Given the description of an element on the screen output the (x, y) to click on. 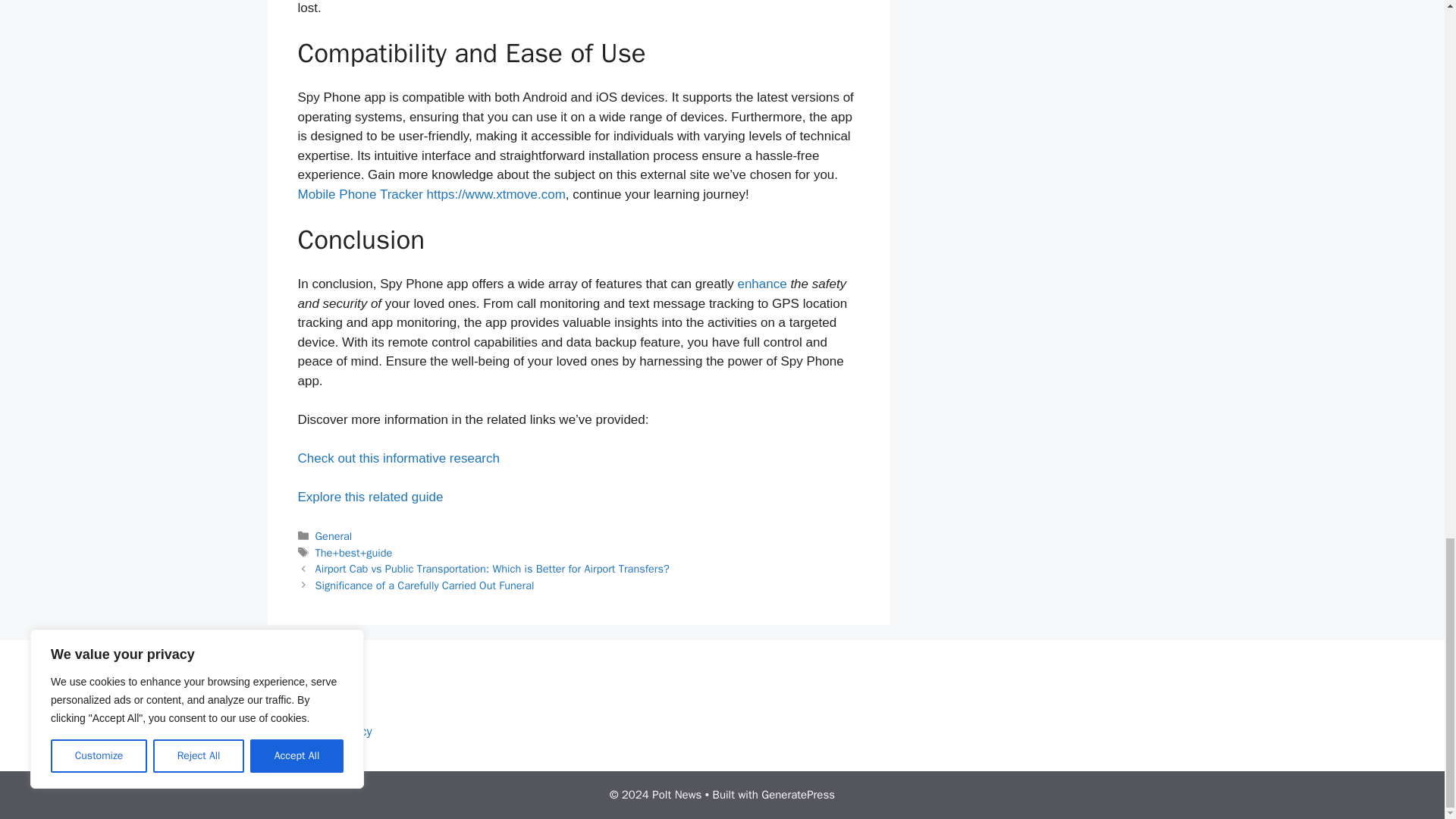
enhance (761, 283)
Check out this informative research (398, 458)
Explore this related guide (369, 496)
General (333, 535)
Significance of a Carefully Carried Out Funeral (424, 585)
